Given the description of an element on the screen output the (x, y) to click on. 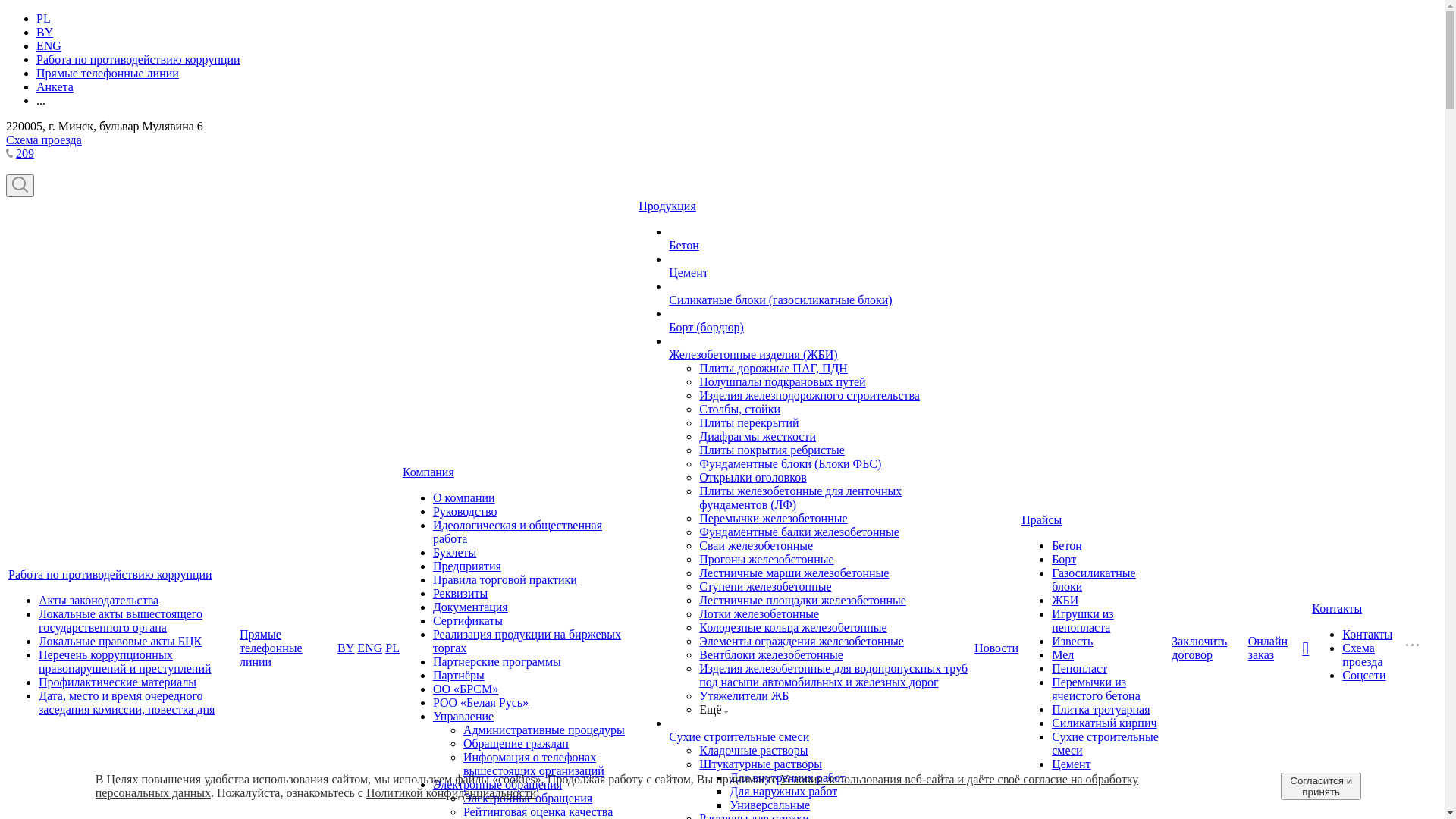
PL Element type: text (43, 18)
BY Element type: text (345, 648)
BY Element type: text (44, 31)
ENG Element type: text (369, 648)
PL Element type: text (392, 648)
ENG Element type: text (48, 45)
209 Element type: text (24, 153)
